Given the description of an element on the screen output the (x, y) to click on. 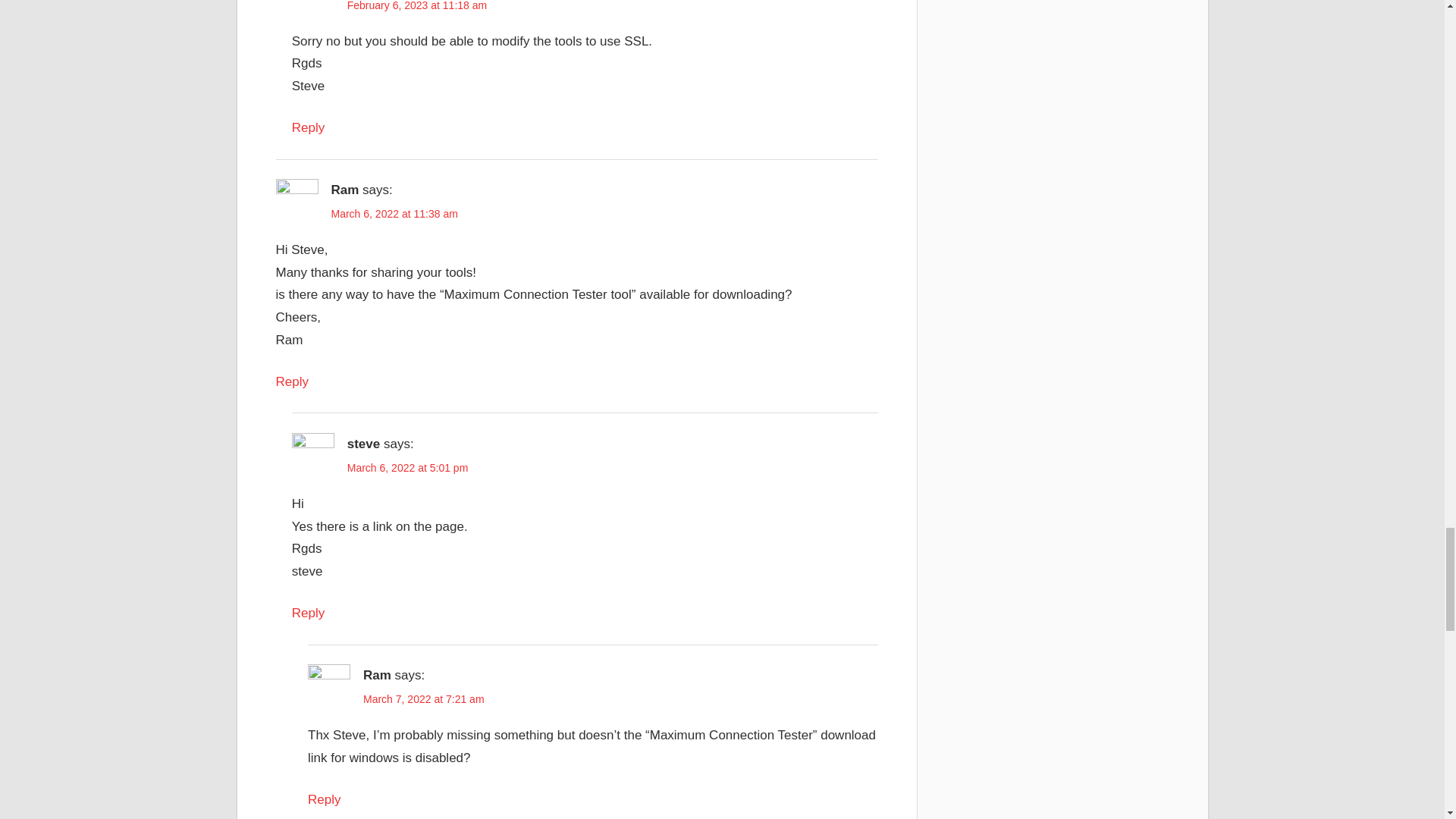
Reply (308, 127)
Reply (323, 799)
March 7, 2022 at 7:21 am (423, 698)
February 6, 2023 at 11:18 am (416, 5)
Reply (292, 381)
March 6, 2022 at 5:01 pm (407, 467)
March 6, 2022 at 11:38 am (393, 214)
Reply (308, 612)
